Given the description of an element on the screen output the (x, y) to click on. 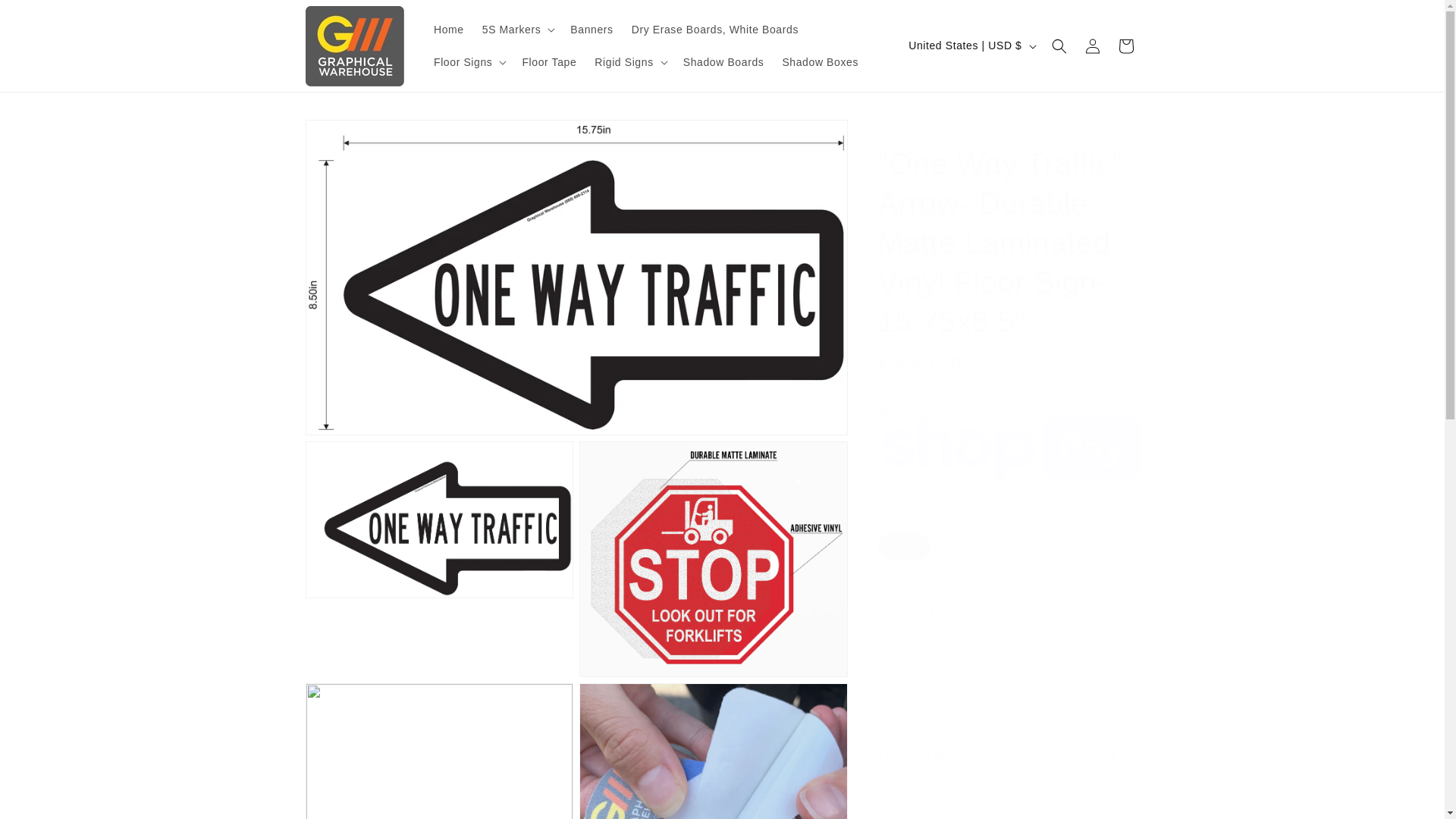
1 (931, 610)
Open media 5 in modal (713, 751)
Open media 4 in modal (438, 751)
Open media 2 in modal (438, 559)
Skip to content (45, 17)
Open media 3 in modal (713, 559)
